Given the description of an element on the screen output the (x, y) to click on. 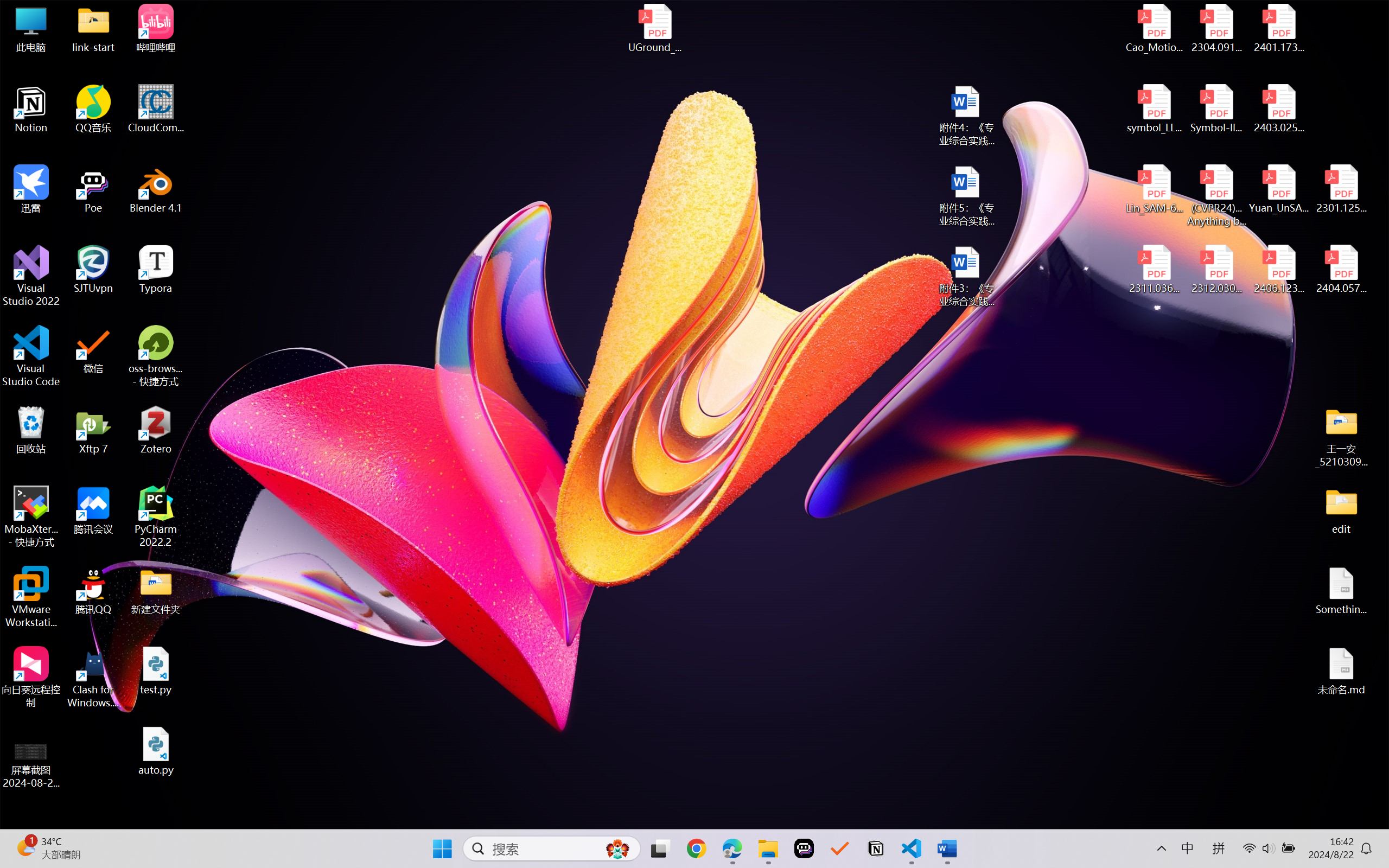
Something.md (1340, 591)
PyCharm 2022.2 (156, 516)
UGround_paper.pdf (654, 28)
2401.17399v1.pdf (1278, 28)
CloudCompare (156, 109)
Visual Studio Code (31, 355)
SJTUvpn (93, 269)
